Given the description of an element on the screen output the (x, y) to click on. 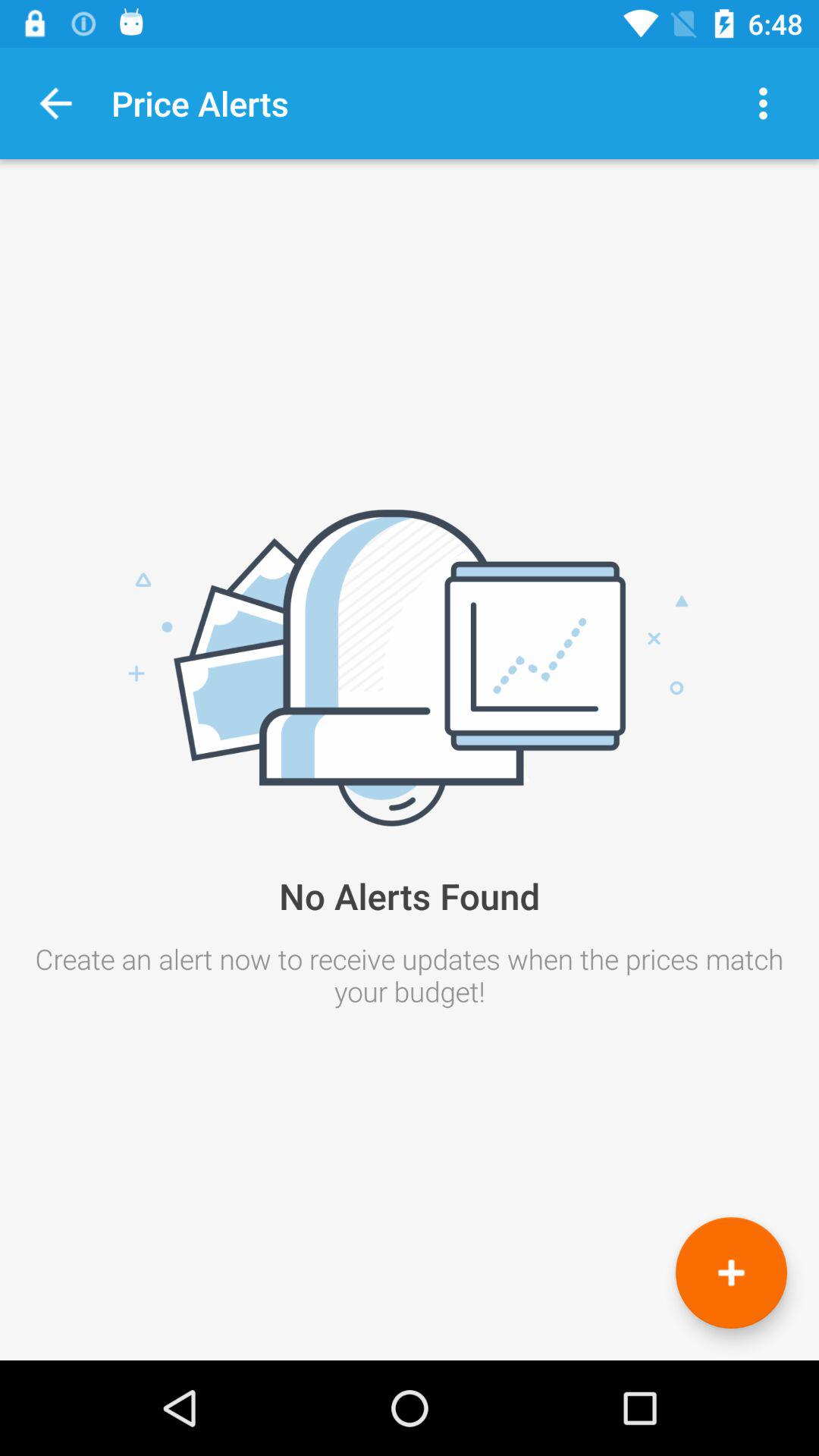
add an attachment (731, 1272)
